Given the description of an element on the screen output the (x, y) to click on. 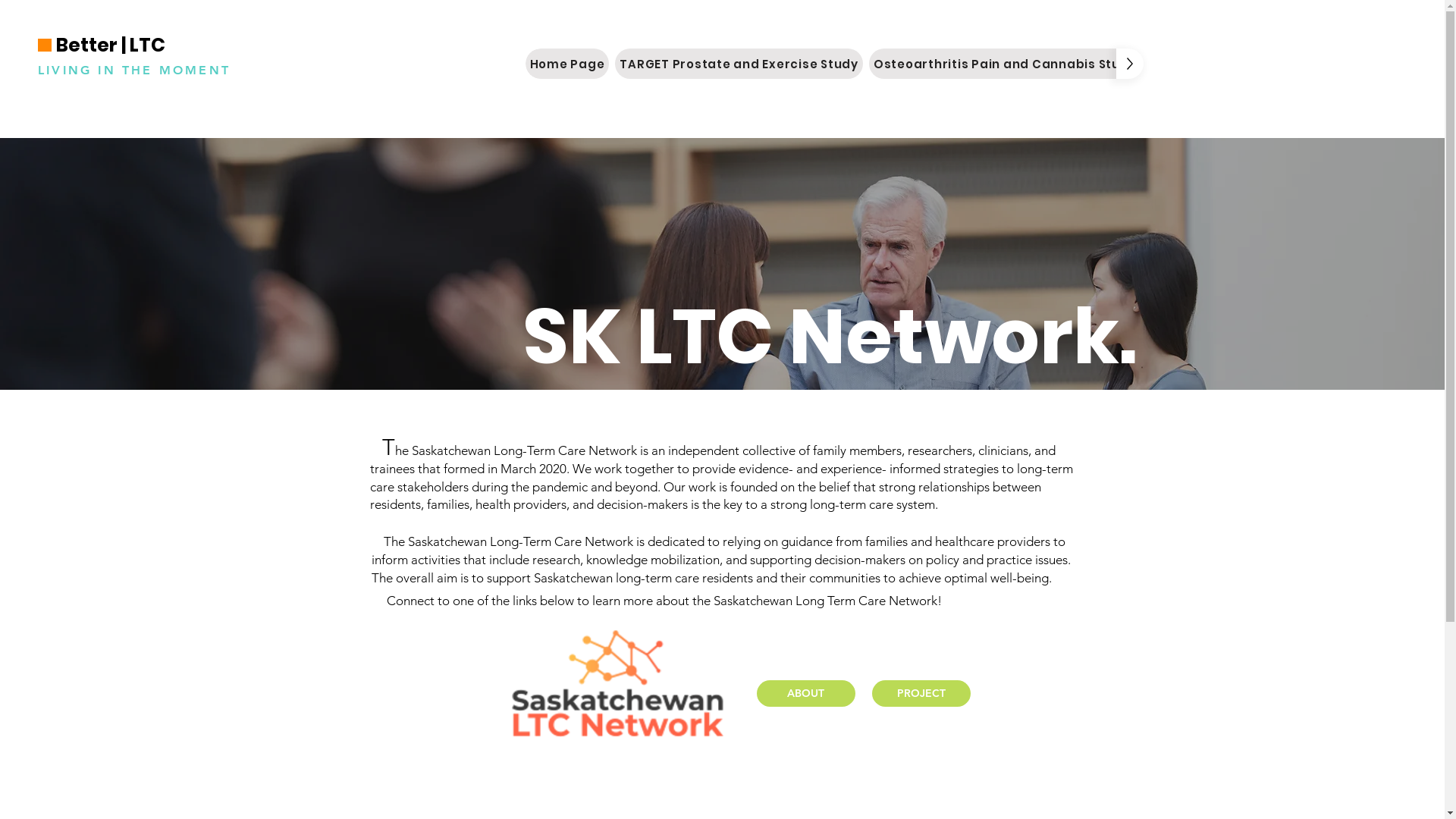
Osteoarthritis Pain and Cannabis Study Element type: text (1005, 63)
ABOUT Element type: text (805, 693)
About patient-oriented-research Element type: text (1262, 63)
TARGET Prostate and Exercise Study Element type: text (738, 63)
PROJECT Element type: text (921, 693)
Better | LTC  Element type: text (112, 44)
Home Page Element type: text (566, 63)
